Given the description of an element on the screen output the (x, y) to click on. 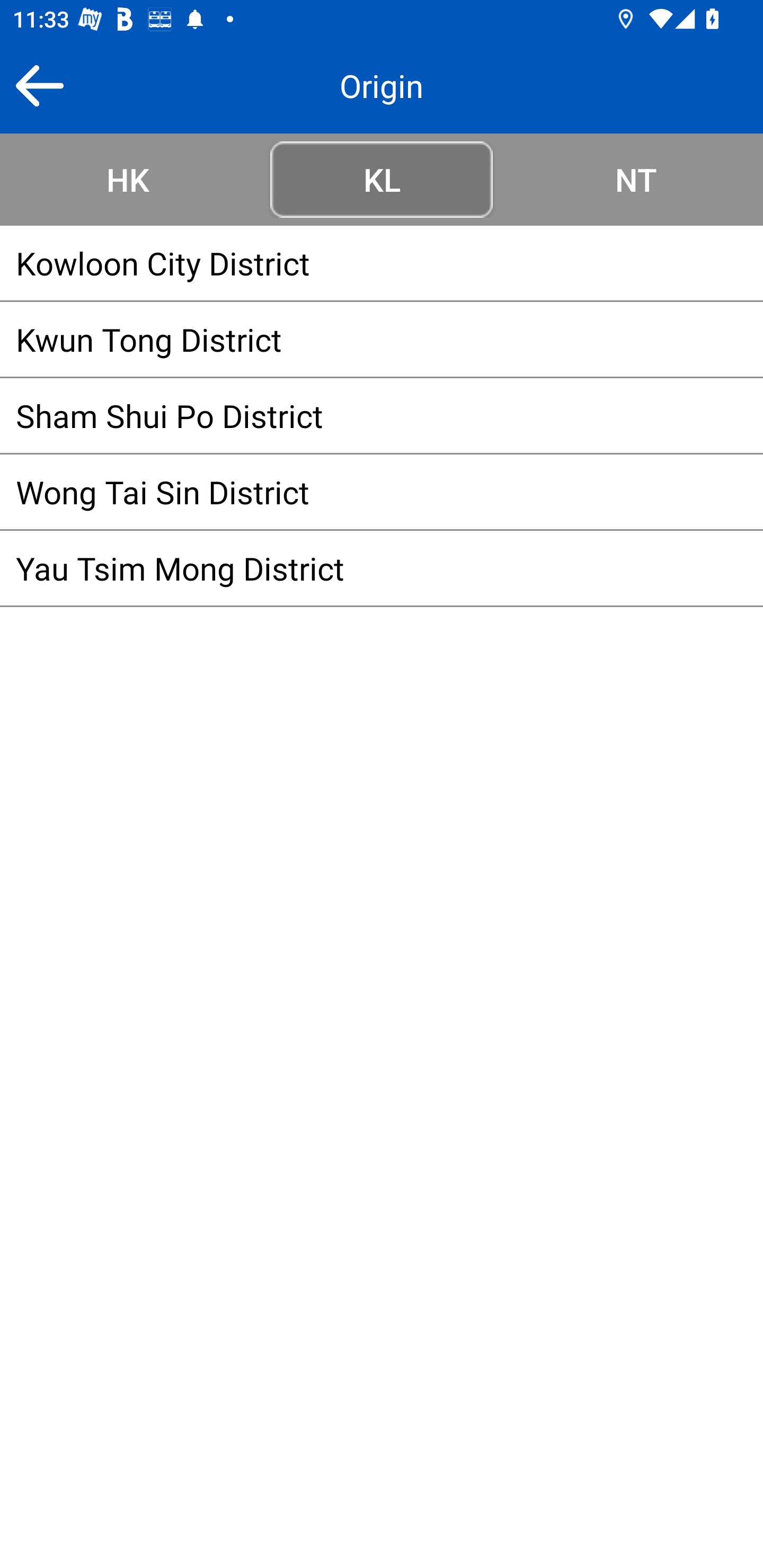
Back (39, 85)
HK (127, 179)
KL (381, 179)
NT (635, 179)
Kowloon City District (381, 263)
Kwun Tong District (381, 339)
Sham Shui Po District (381, 415)
Wong Tai Sin District (381, 491)
Yau Tsim Mong District (381, 568)
